Given the description of an element on the screen output the (x, y) to click on. 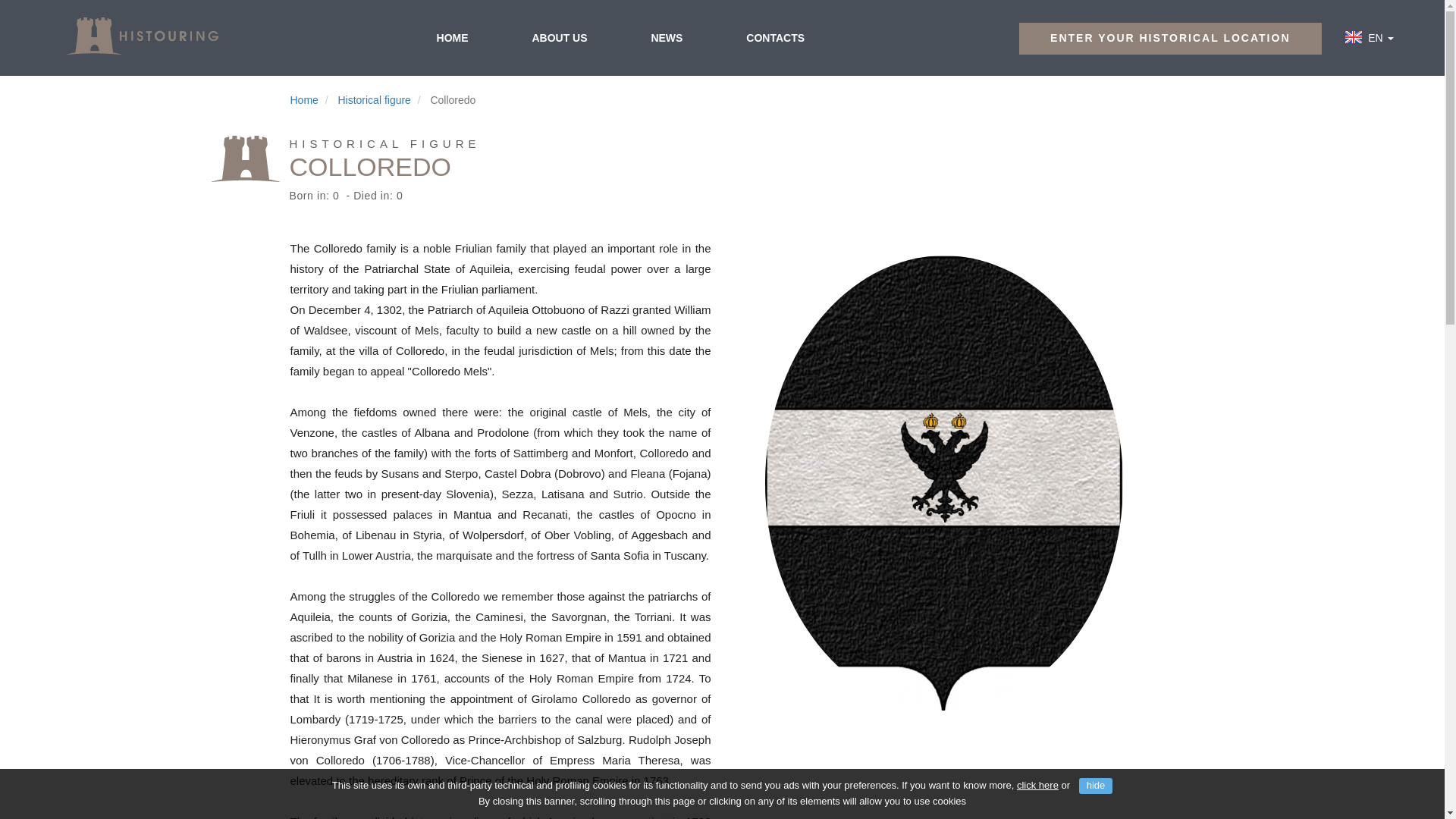
Histouring (141, 35)
Histouring (141, 35)
HOME (452, 37)
CONTACTS (775, 37)
Histouring (141, 35)
CONTACTS (775, 37)
ENTER YOUR HISTORICAL LOCATION (1169, 38)
ABOUT US (558, 37)
ABOUT US (558, 37)
NEWS (666, 37)
